Given the description of an element on the screen output the (x, y) to click on. 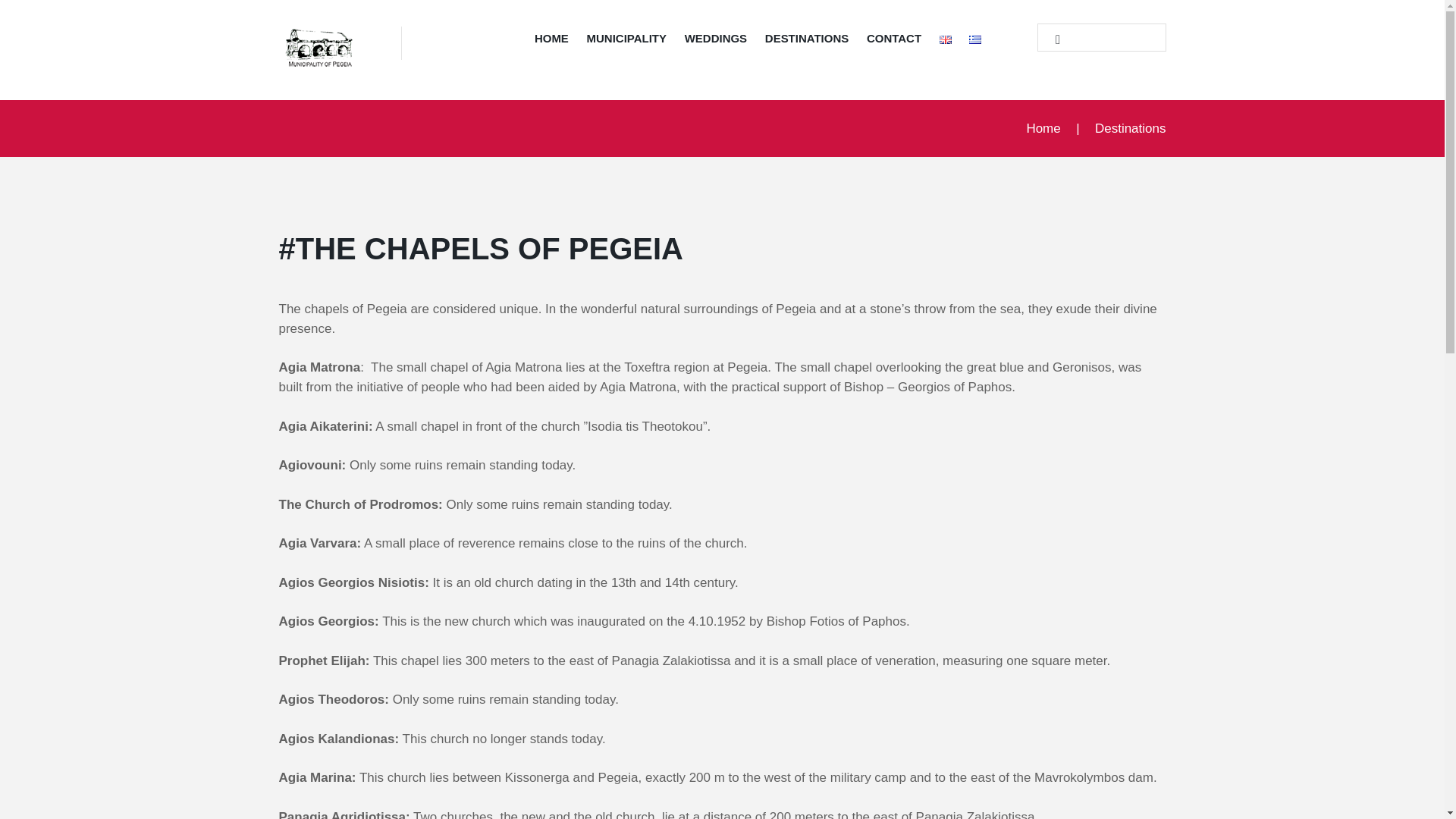
MUNICIPALITY (626, 40)
Start search (1051, 39)
English (945, 40)
WEDDINGS (715, 40)
